Given the description of an element on the screen output the (x, y) to click on. 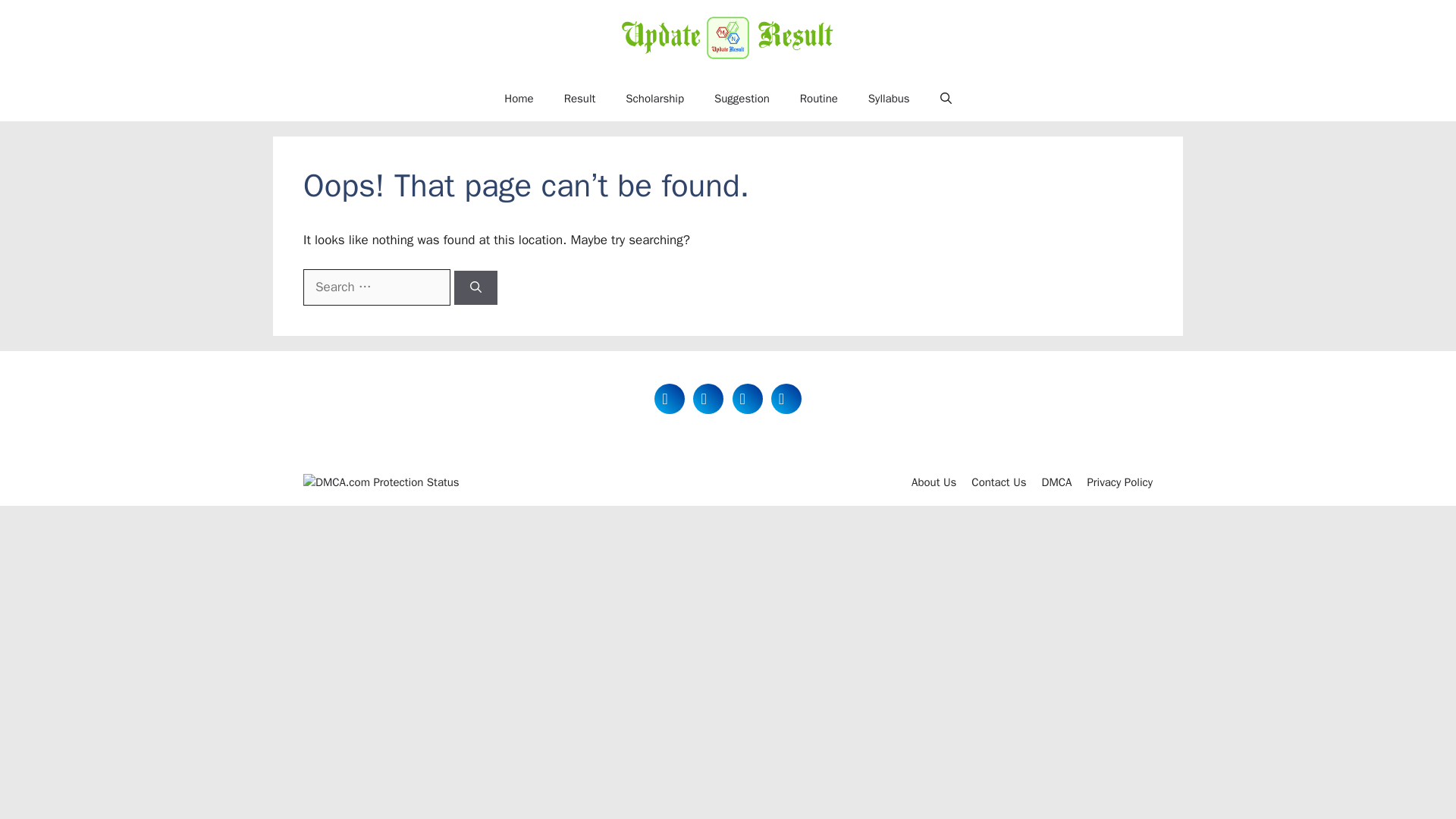
Home (518, 98)
DMCA (1056, 481)
Result (579, 98)
Privacy Policy (1119, 481)
DMCA.com Protection Status (381, 481)
Suggestion (741, 98)
Scholarship (654, 98)
About Us (933, 481)
Routine (818, 98)
Contact Us (998, 481)
Search for: (375, 287)
Syllabus (888, 98)
